Given the description of an element on the screen output the (x, y) to click on. 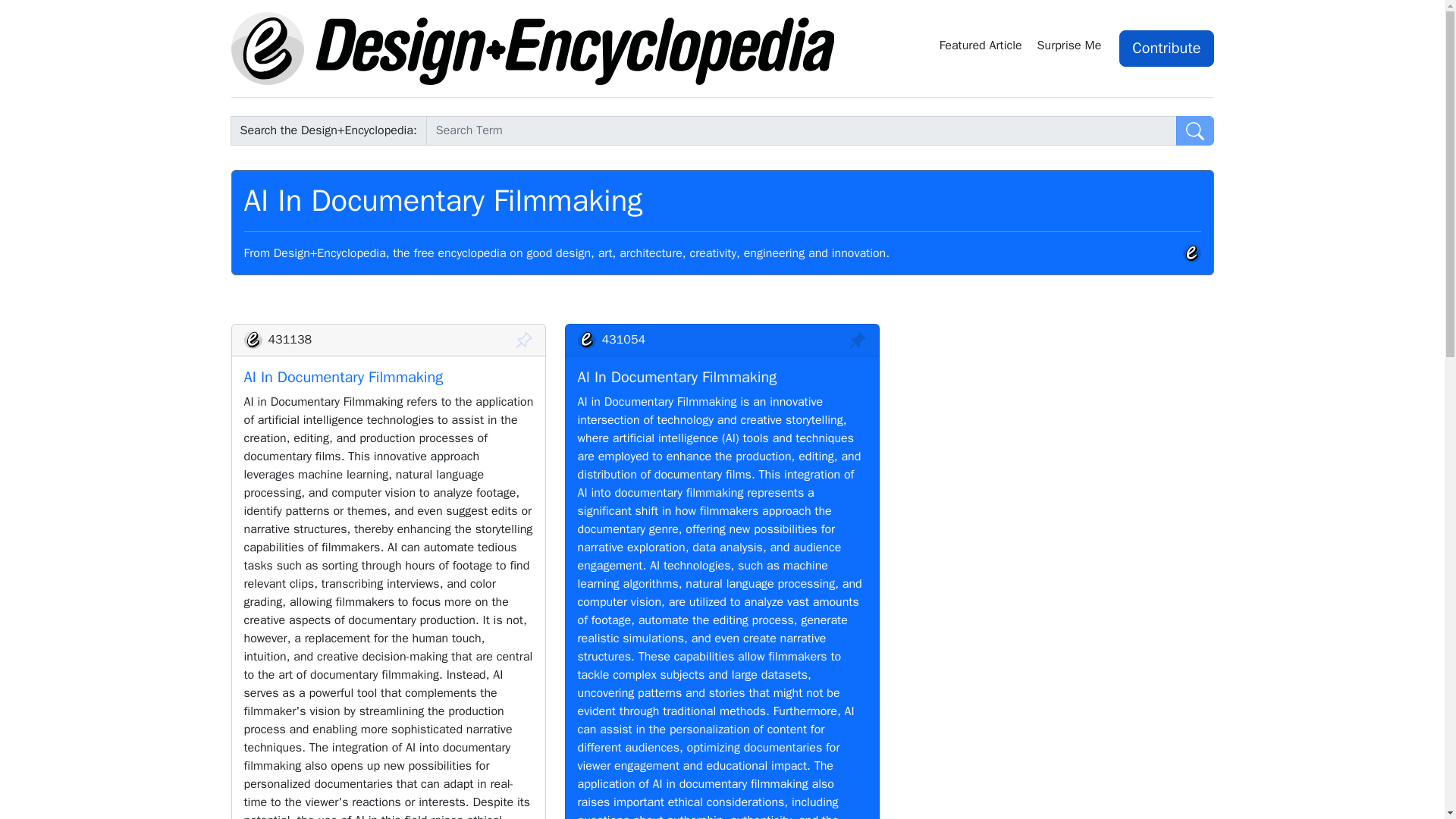
Design Encyclopedia (532, 48)
Featured Article (982, 48)
AI In Documentary Filmmaking (677, 376)
Contribute (1165, 48)
Surprise Me (1072, 48)
AI In Documentary Filmmaking (344, 376)
